Given the description of an element on the screen output the (x, y) to click on. 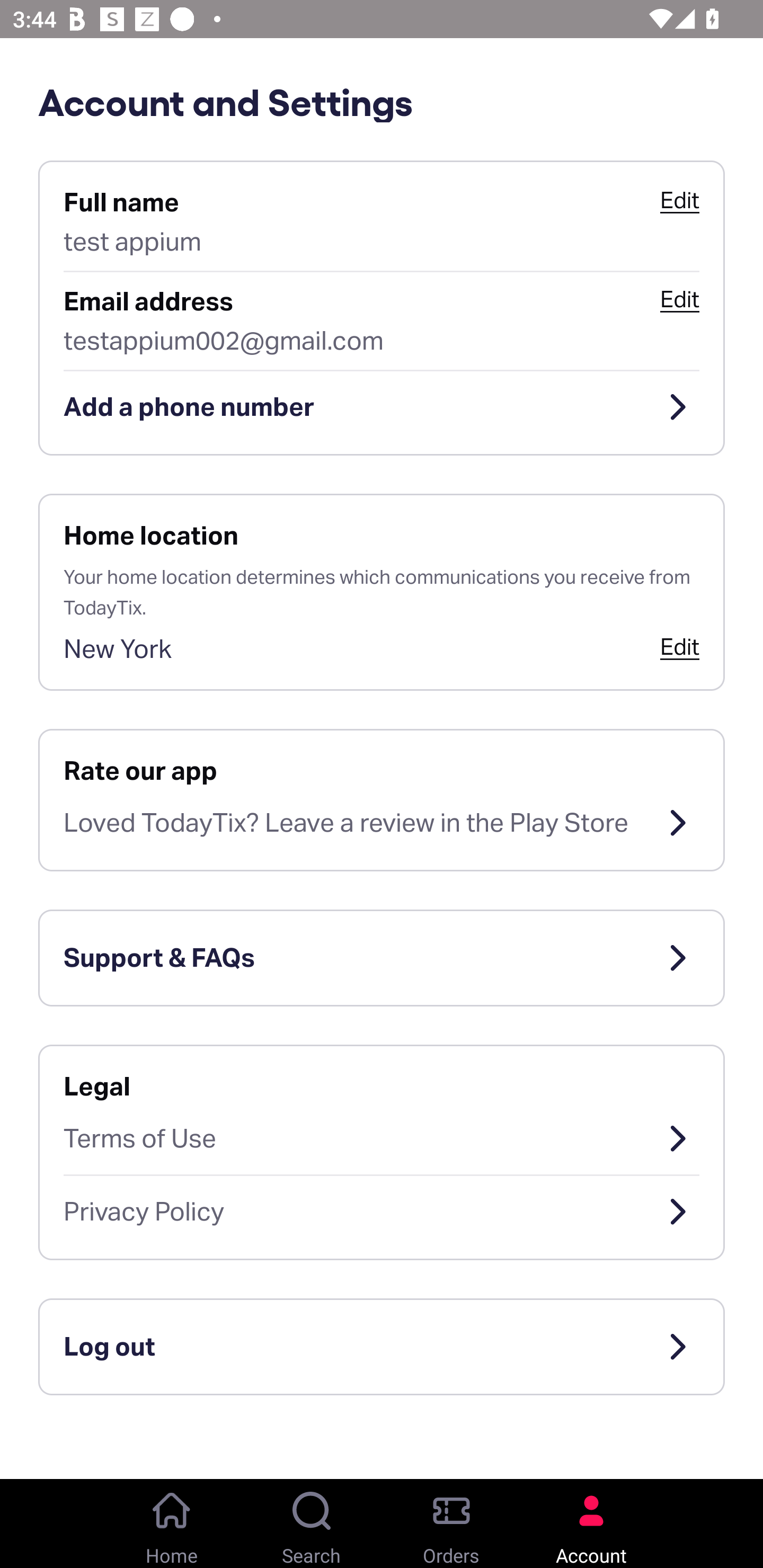
Edit (679, 200)
Edit (679, 299)
Add a phone number (381, 406)
Edit (679, 646)
Loved TodayTix? Leave a review in the Play Store (381, 822)
Support & FAQs (381, 957)
Terms of Use (381, 1137)
Privacy Policy (381, 1211)
Log out (381, 1346)
Home (171, 1523)
Search (311, 1523)
Orders (451, 1523)
